Given the description of an element on the screen output the (x, y) to click on. 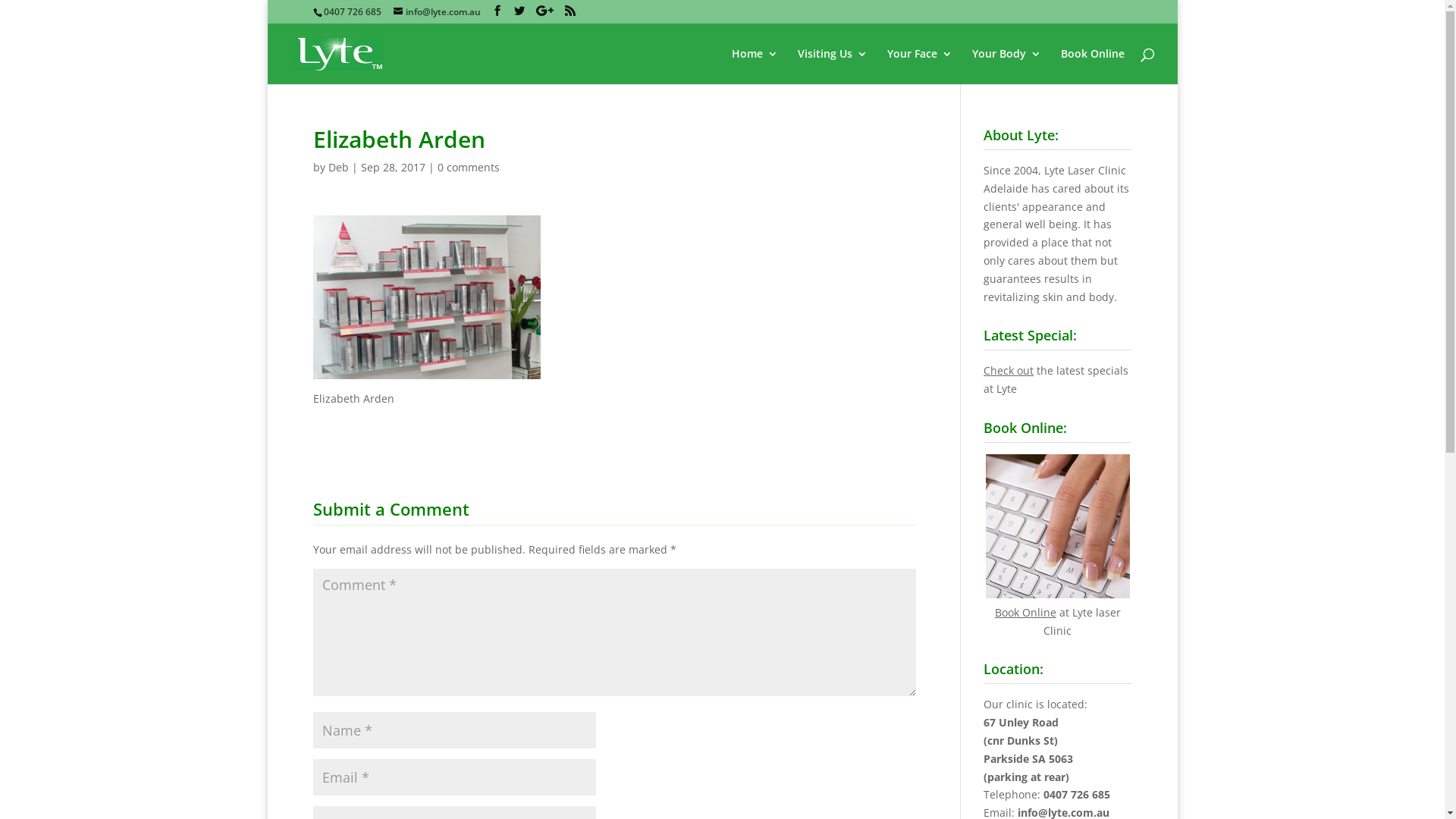
0 comments Element type: text (467, 167)
info@lyte.com.au Element type: text (436, 11)
Deb Element type: text (337, 167)
Your Face Element type: text (919, 66)
0407 726 685 Element type: text (1076, 794)
Home Element type: text (754, 66)
Your Body Element type: text (1006, 66)
Check out Element type: text (1008, 370)
Visiting Us Element type: text (832, 66)
Book Online Element type: text (1091, 66)
Book Online Element type: text (1025, 612)
